Given the description of an element on the screen output the (x, y) to click on. 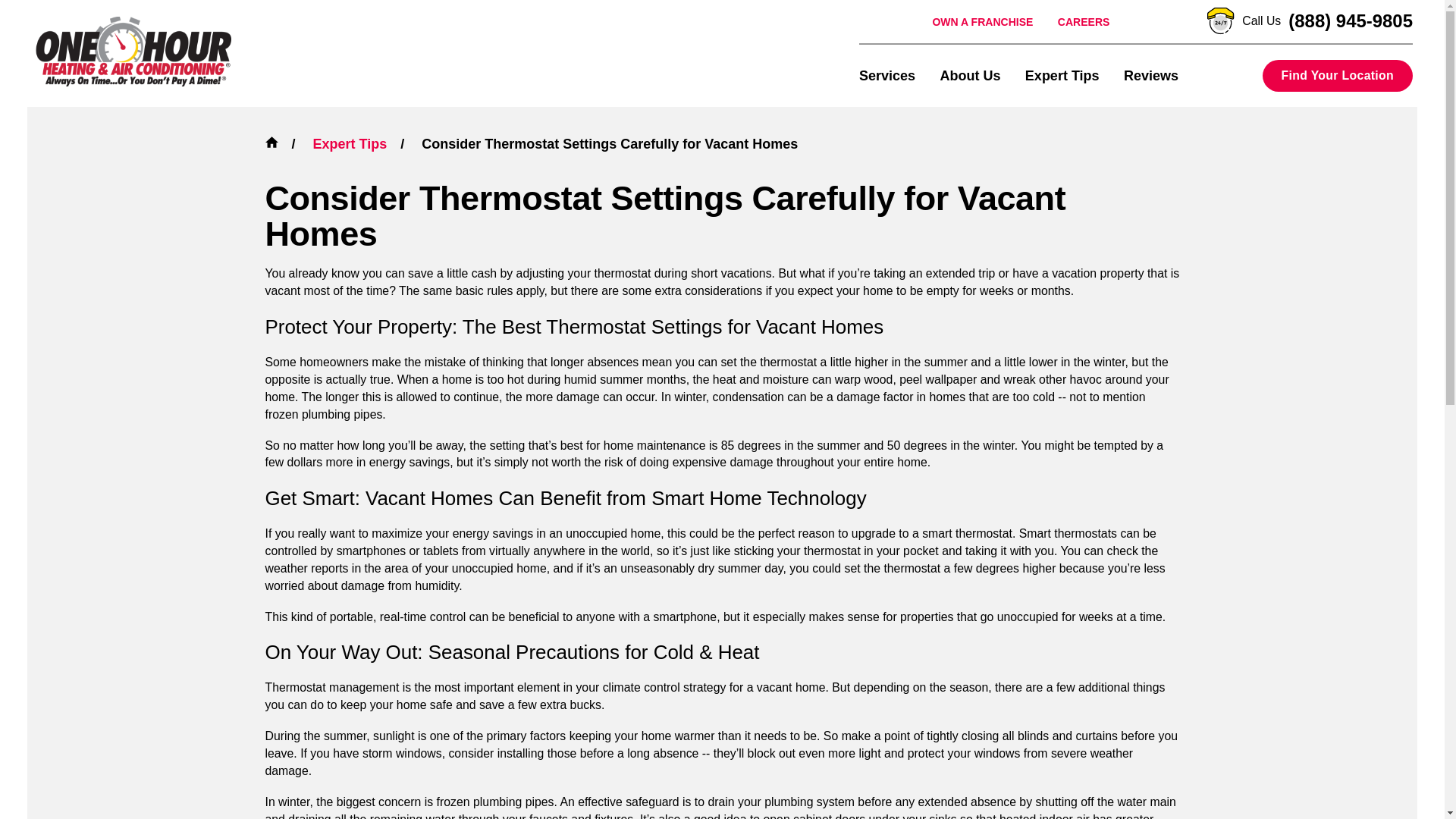
CAREERS (1083, 21)
OWN A FRANCHISE (981, 21)
Services (887, 75)
